Given the description of an element on the screen output the (x, y) to click on. 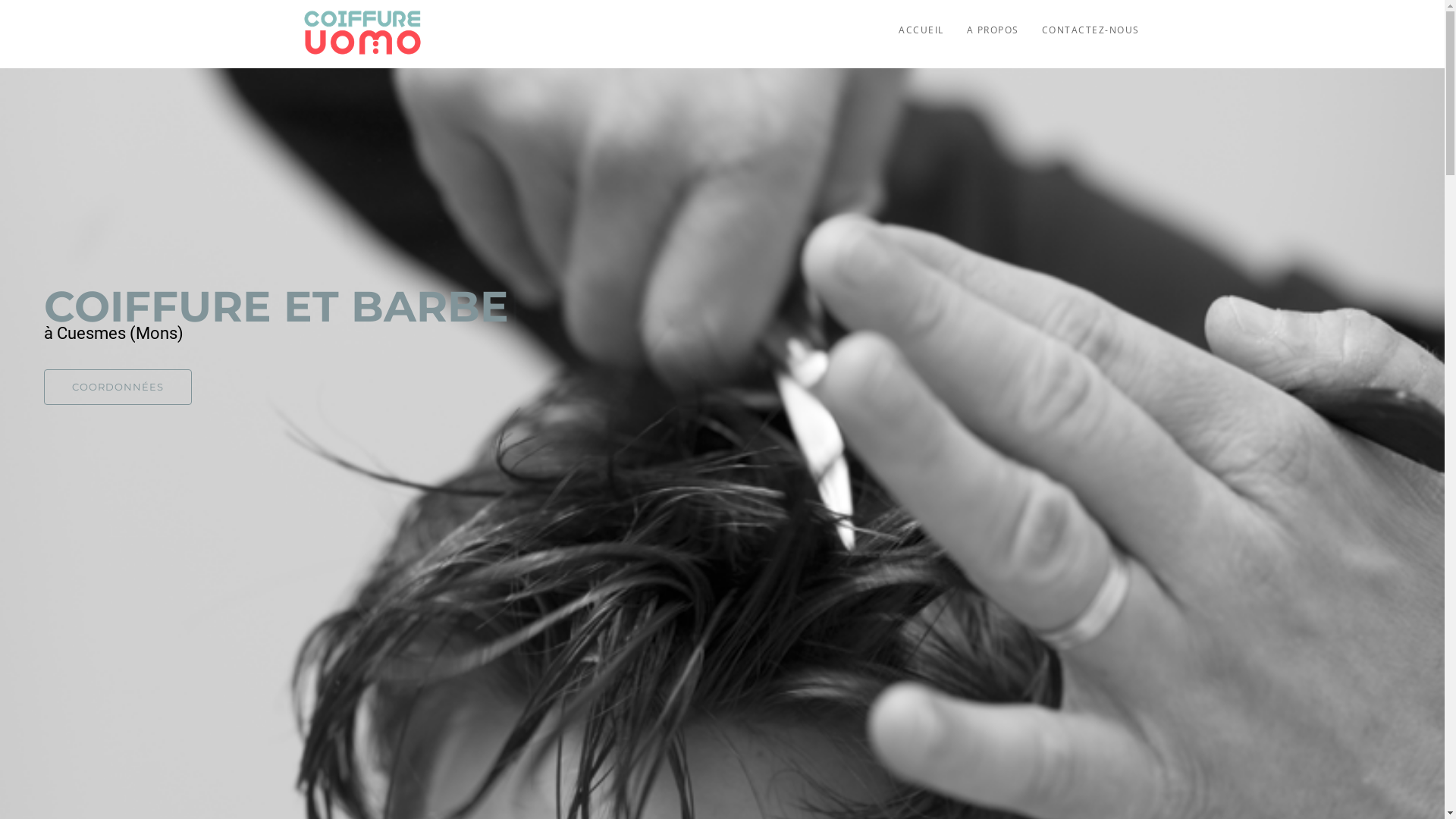
CONTACTEZ-NOUS Element type: text (1089, 30)
ACCUEIL Element type: text (920, 30)
L'UOMO Element type: hover (362, 29)
A PROPOS Element type: text (992, 30)
